Given the description of an element on the screen output the (x, y) to click on. 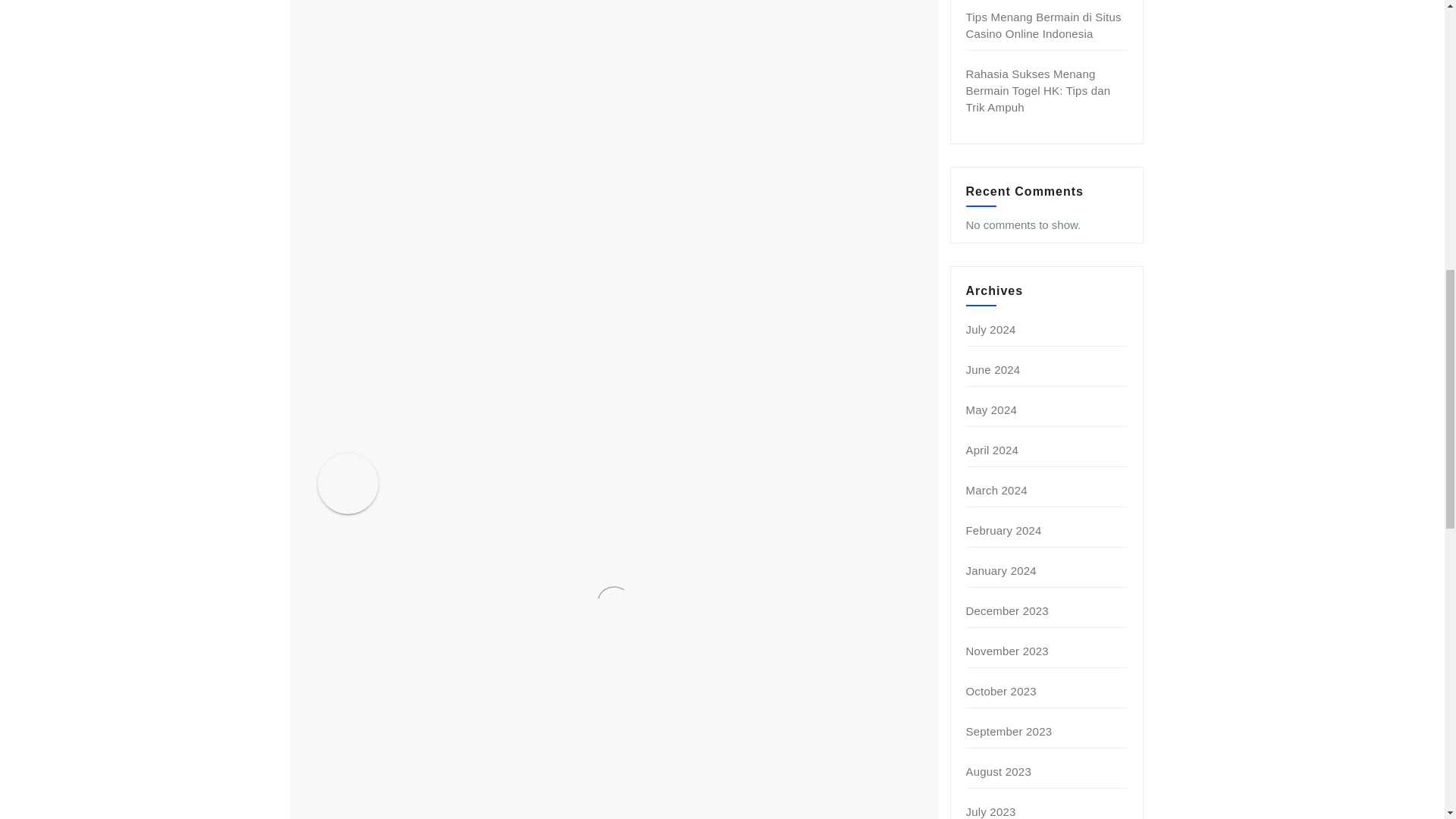
adminss (473, 465)
April 2024 (992, 449)
July 2023 (991, 811)
January 2024 (1001, 570)
Tips Menang Bermain di Situs Casino Online Indonesia (1043, 25)
Rahasia Sukses Menang Bermain Togel HK: Tips dan Trik Ampuh (1038, 90)
May 2024 (991, 409)
November 2023 (1007, 650)
December 2023 (1007, 610)
July 2024 (991, 328)
February 2024 (1004, 530)
October 2023 (1001, 690)
September 2023 (1009, 730)
June 2024 (993, 369)
March 2024 (996, 490)
